Given the description of an element on the screen output the (x, y) to click on. 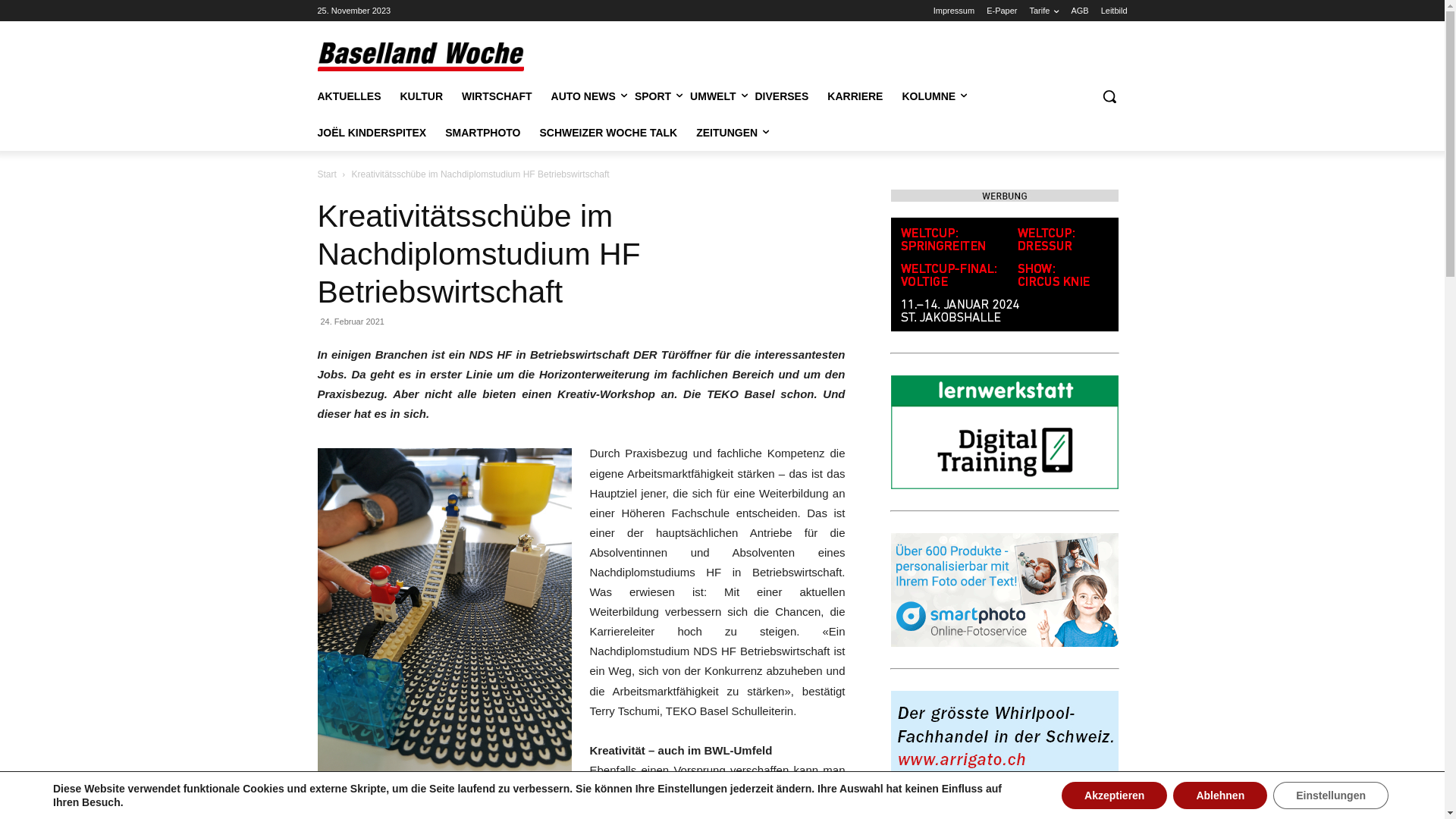
DIVERSES Element type: text (782, 96)
E-Paper Element type: text (1001, 10)
Lernwerkstatt Element type: hover (1003, 432)
smartphoto Element type: hover (1003, 589)
WIRTSCHAFT Element type: text (496, 96)
LONGINES CHI CLASSICS BASEL Element type: hover (1003, 274)
KULTUR Element type: text (421, 96)
KARRIERE Element type: text (854, 96)
AGB Element type: text (1079, 10)
ZEITUNGEN Element type: text (726, 132)
SPORT Element type: text (652, 96)
Impressum Element type: text (953, 10)
SCHWEIZER WOCHE TALK Element type: text (608, 132)
Leitbild Element type: text (1114, 10)
Ablehnen Element type: text (1220, 795)
Tarife Element type: text (1044, 10)
UMWELT Element type: text (712, 96)
AUTO NEWS Element type: text (583, 96)
AKTUELLES Element type: text (348, 96)
Einstellungen Element type: text (1330, 795)
Start Element type: text (325, 174)
Akzeptieren Element type: text (1114, 795)
SMARTPHOTO Element type: text (482, 132)
KOLUMNE Element type: text (928, 96)
Arrigato GmbH Element type: hover (1003, 747)
